Given the description of an element on the screen output the (x, y) to click on. 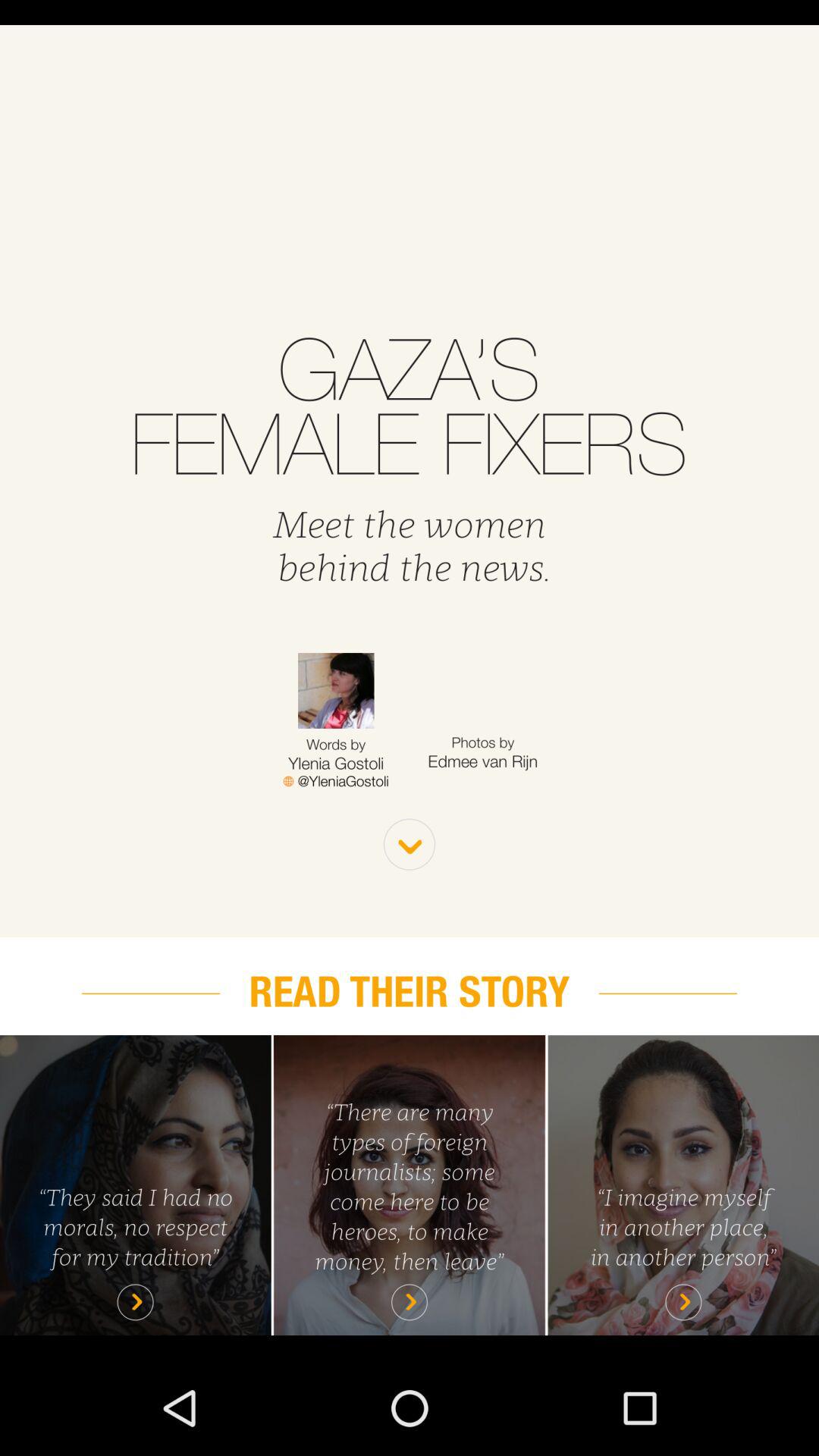
see more option (409, 844)
